Given the description of an element on the screen output the (x, y) to click on. 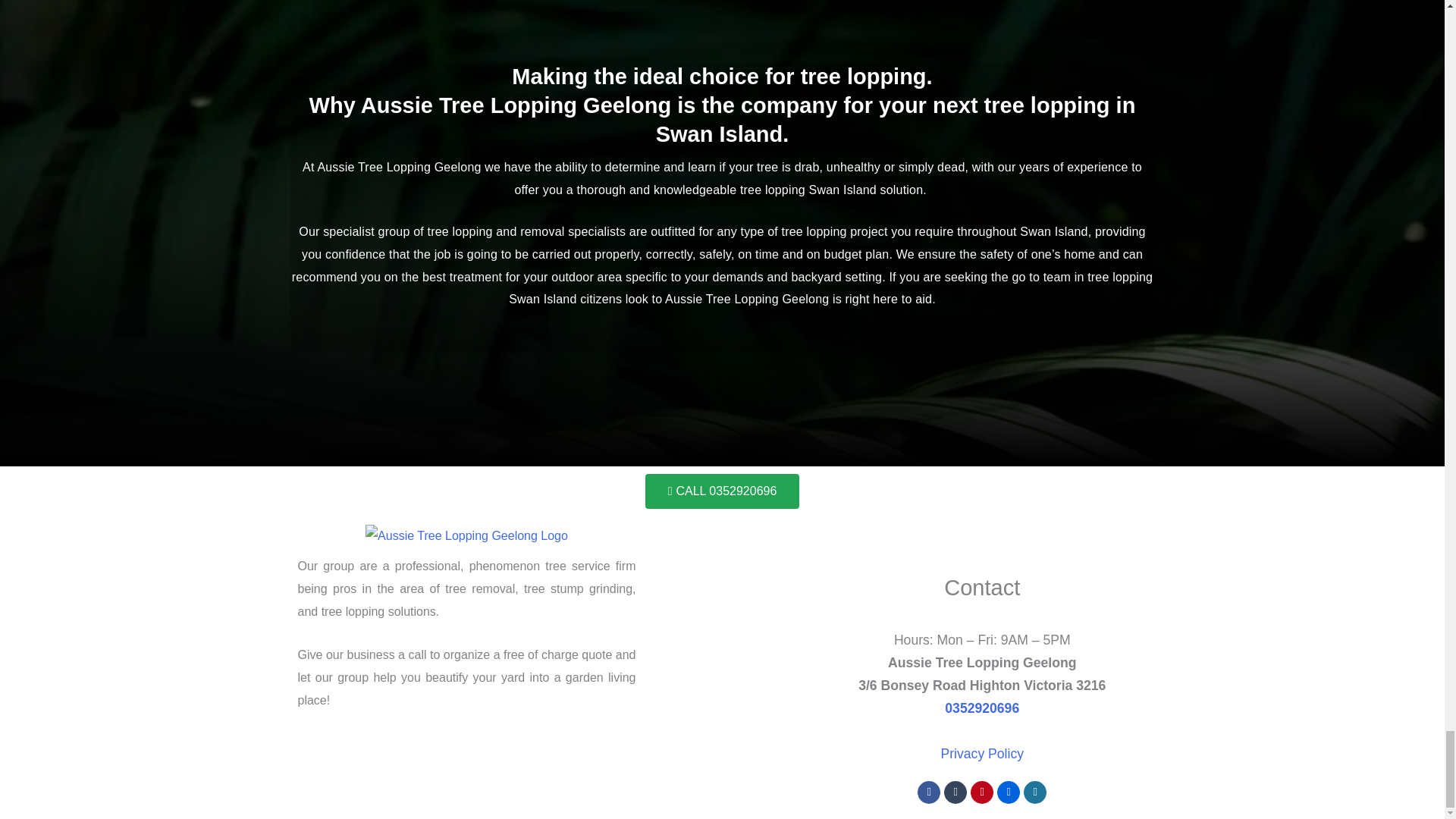
Aussie-Tree-Lopping-Geelong-Lo (466, 535)
